Given the description of an element on the screen output the (x, y) to click on. 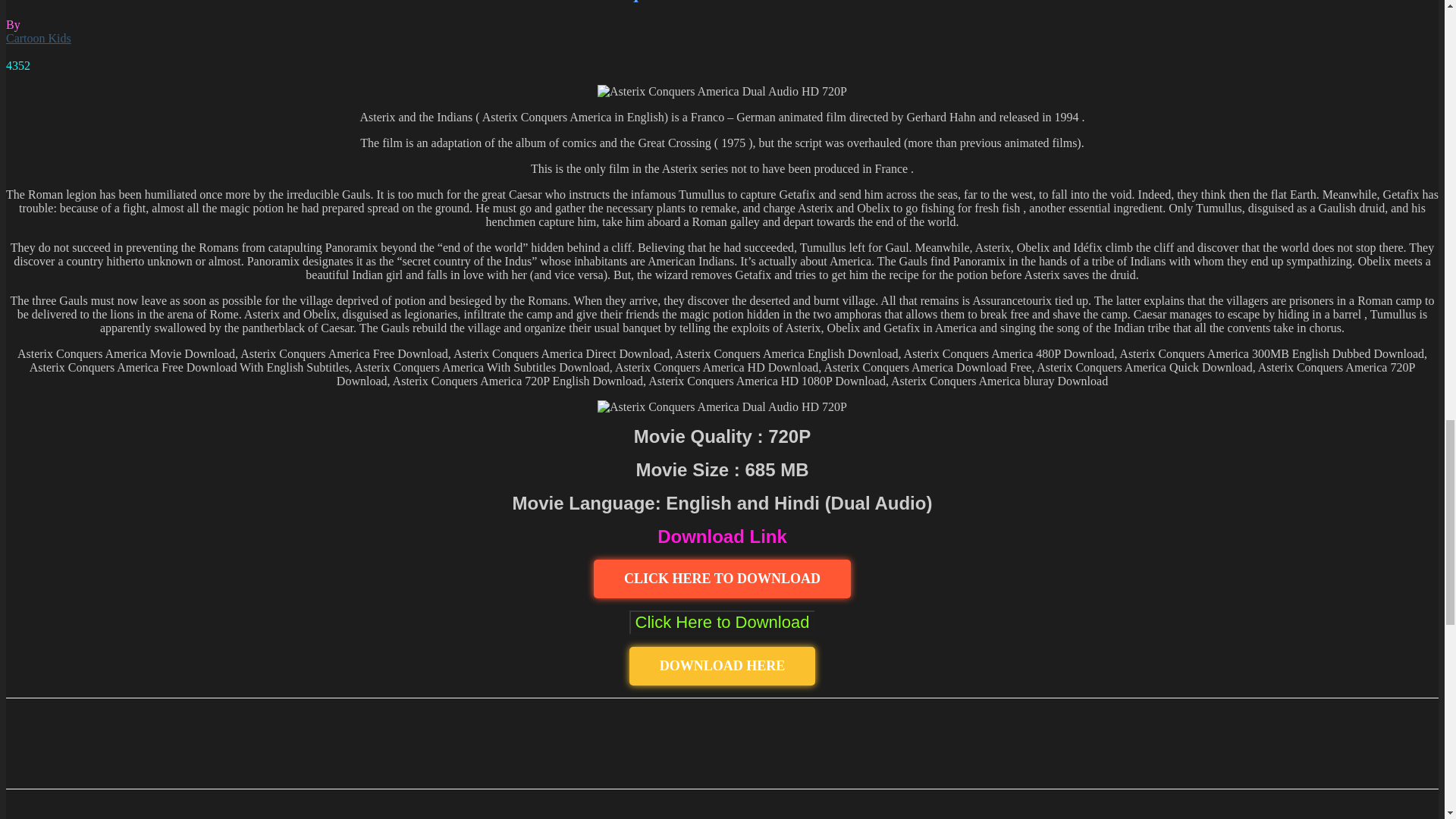
Click Here to Download (721, 622)
